Given the description of an element on the screen output the (x, y) to click on. 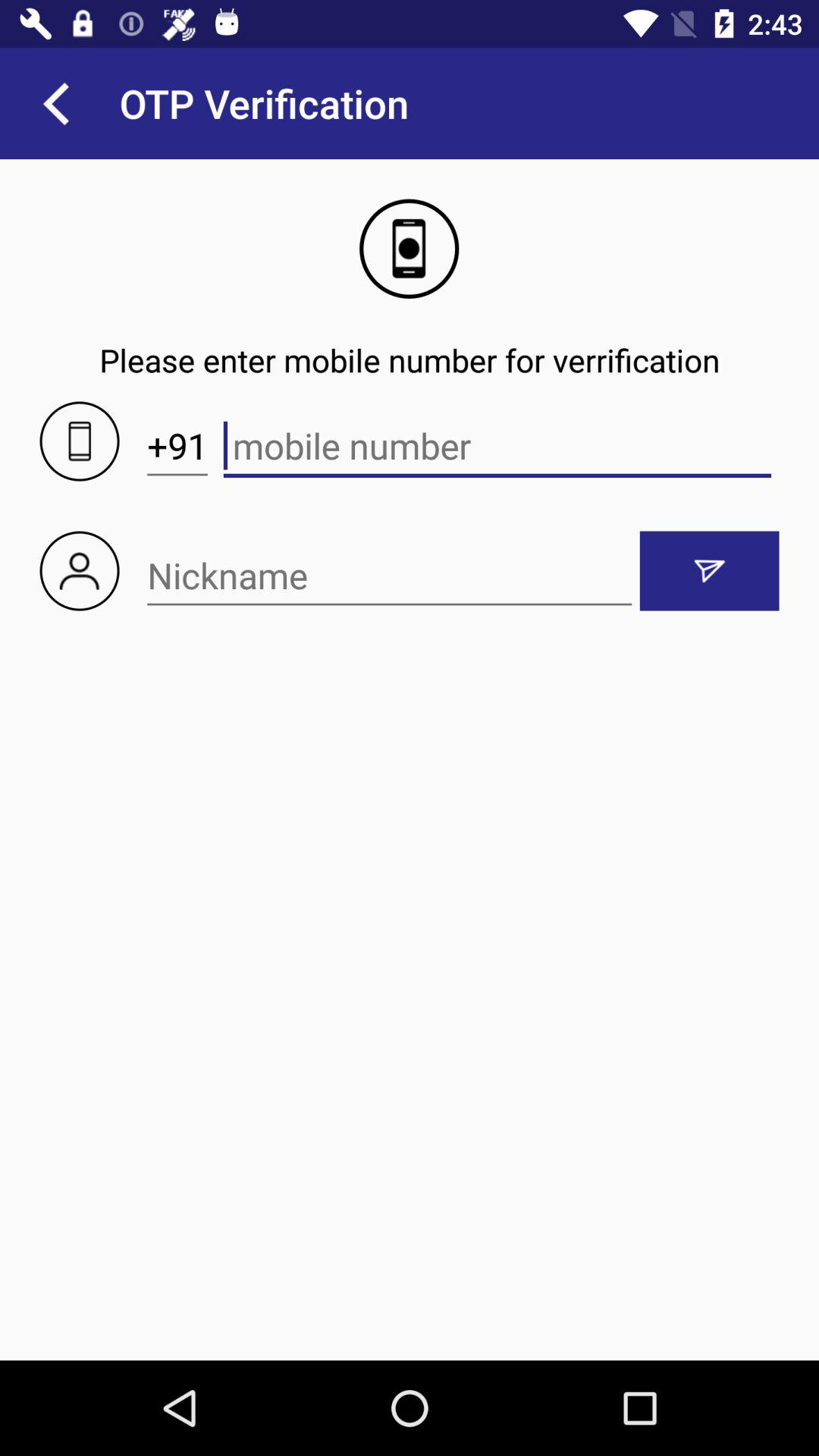
launch the icon next to the otp verification item (55, 103)
